Given the description of an element on the screen output the (x, y) to click on. 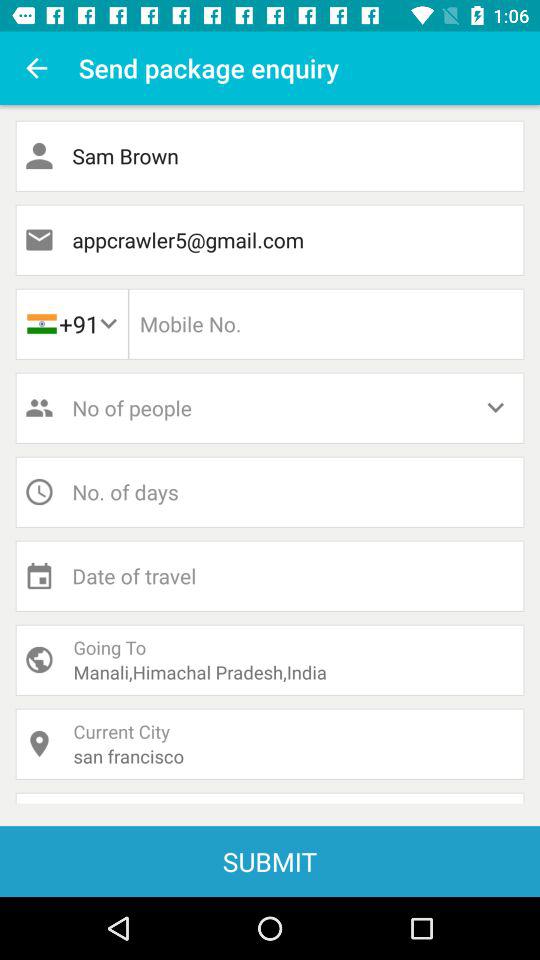
click the item to the left of send package enquiry (36, 68)
